Given the description of an element on the screen output the (x, y) to click on. 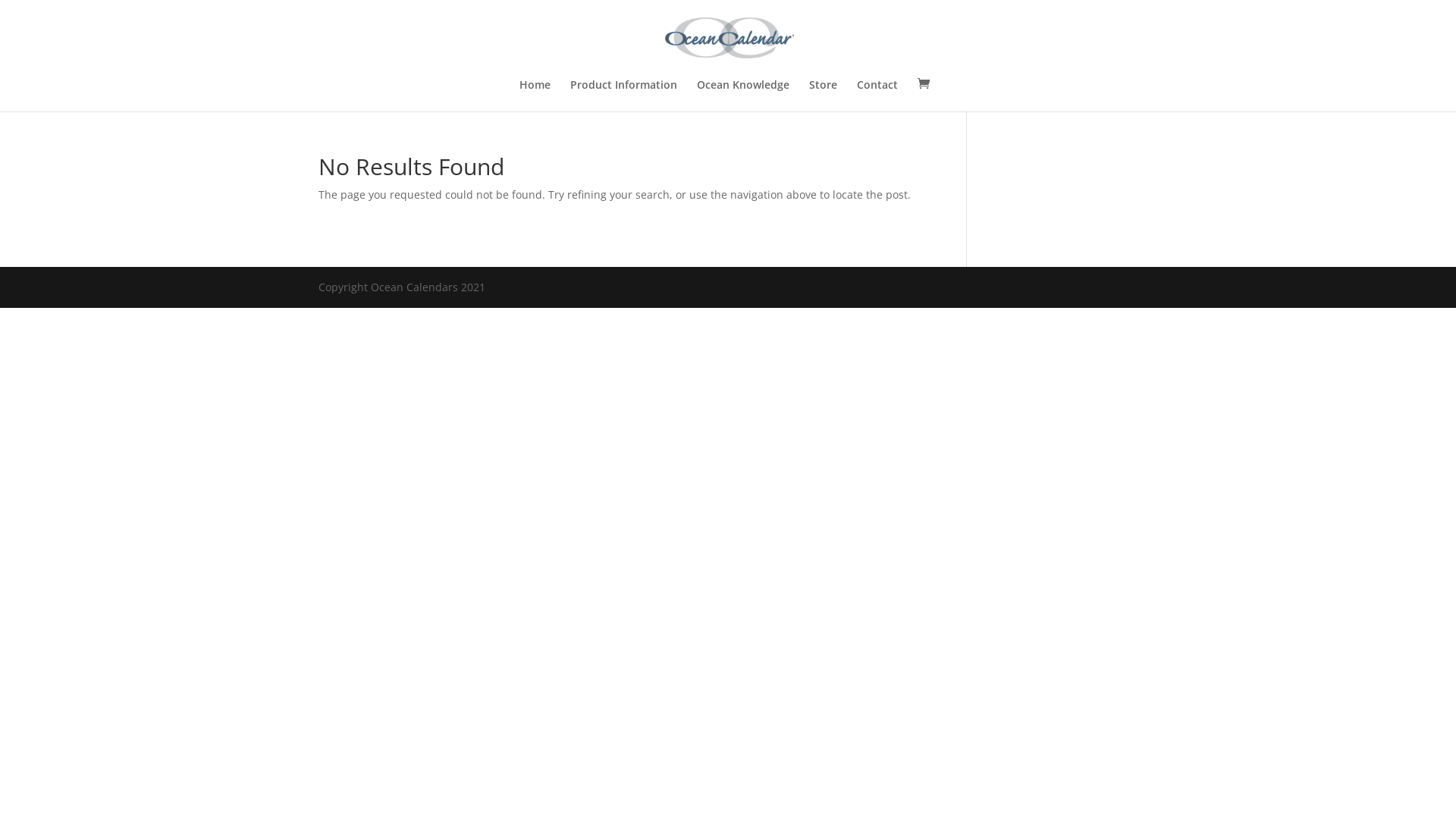
Home Element type: text (533, 95)
Product Information Element type: text (623, 95)
Store Element type: text (822, 95)
Contact Element type: text (876, 95)
Ocean Knowledge Element type: text (742, 95)
